Given the description of an element on the screen output the (x, y) to click on. 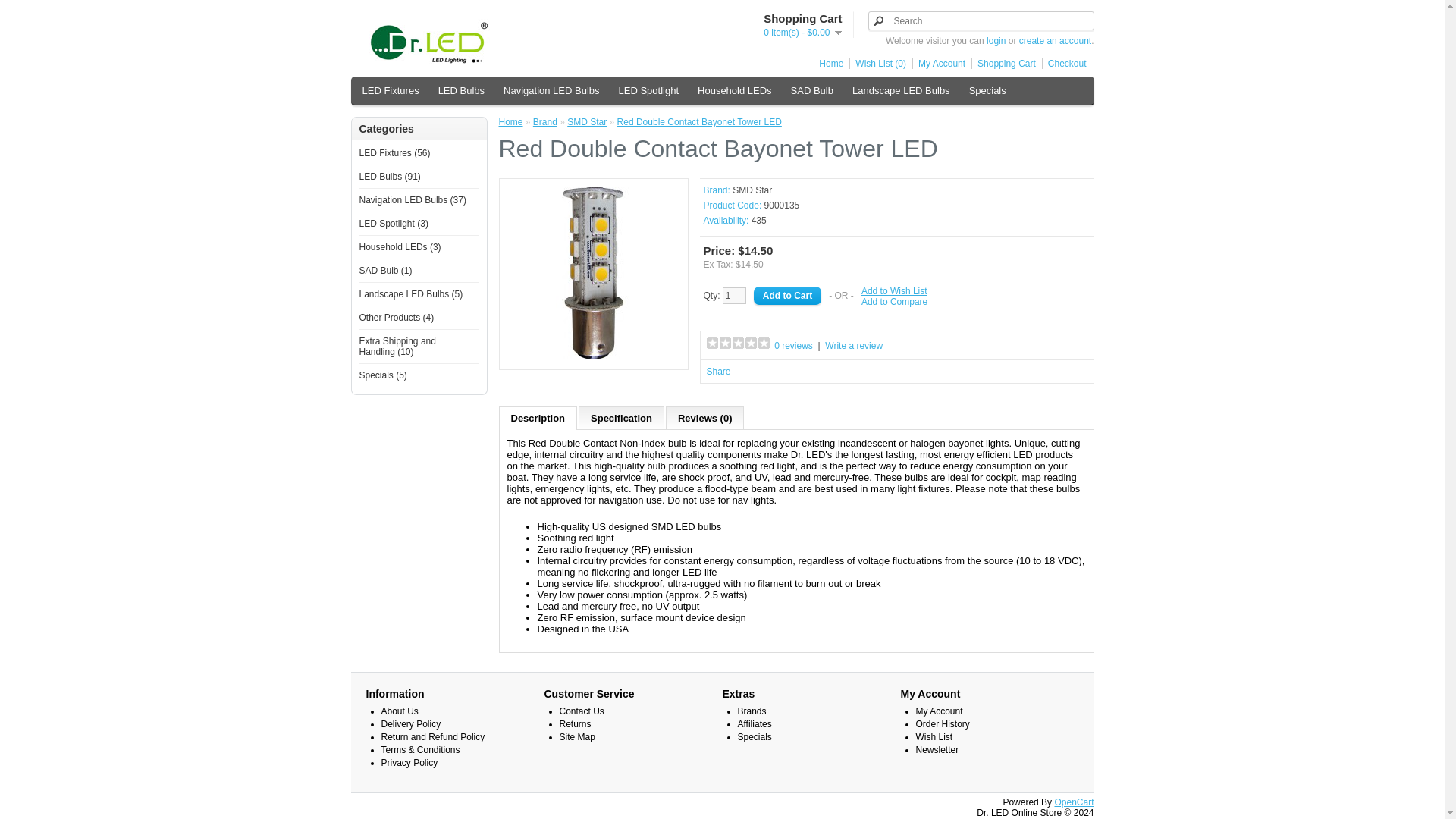
Red Double Contact Bayonet Tower LED (592, 356)
LED Bulbs (461, 90)
My Account (938, 63)
Red Double Contact Bayonet Tower LED (592, 272)
Shopping Cart (1003, 63)
SAD Bulb (812, 90)
Home (828, 63)
Household LEDs (734, 90)
LED Fixtures (390, 90)
Checkout (1064, 63)
login (996, 40)
1 (733, 295)
create an account (1054, 40)
Specials (986, 90)
Landscape LED Bulbs (901, 90)
